Given the description of an element on the screen output the (x, y) to click on. 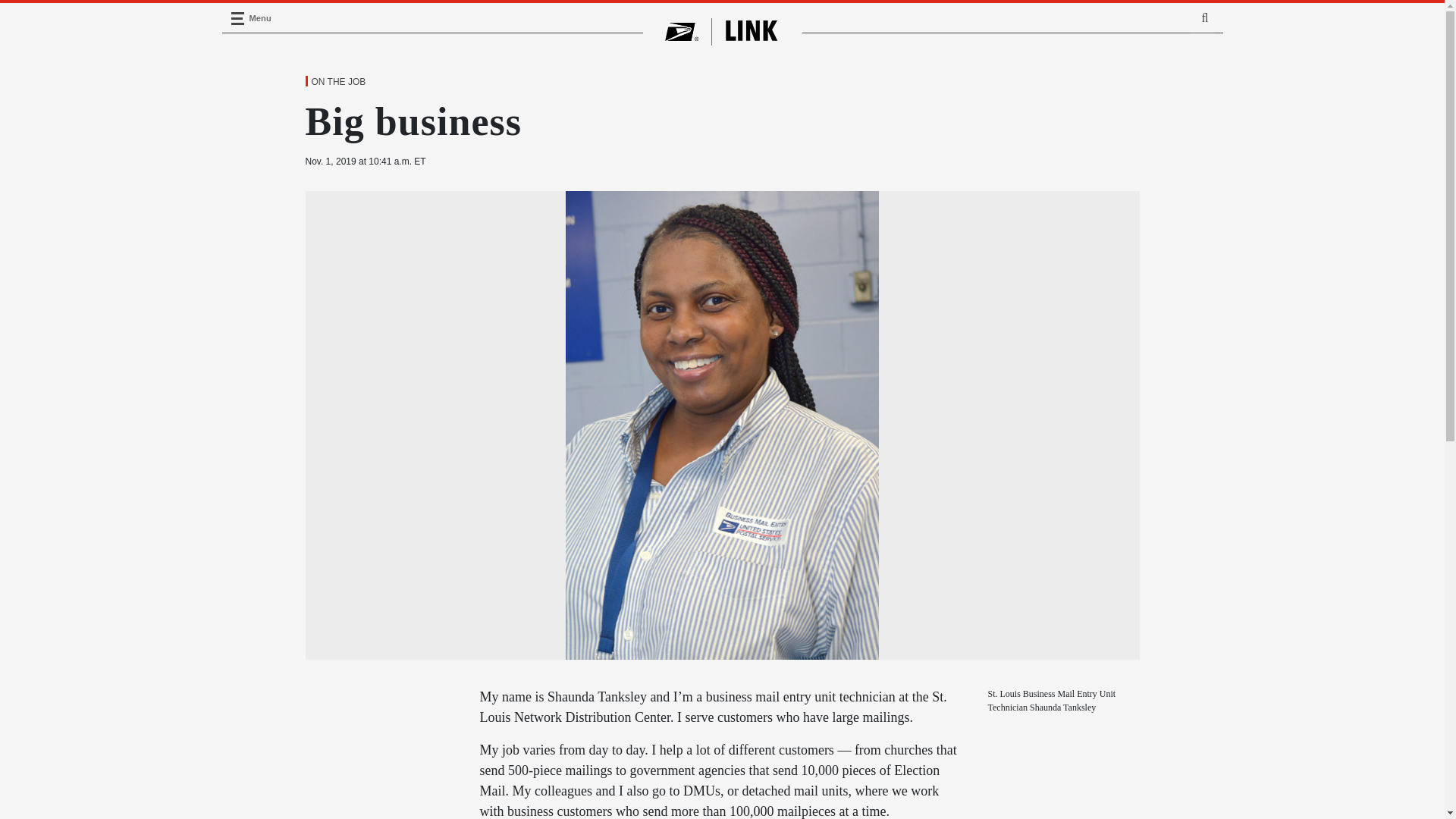
ON THE JOB (337, 81)
Menu (237, 18)
